Given the description of an element on the screen output the (x, y) to click on. 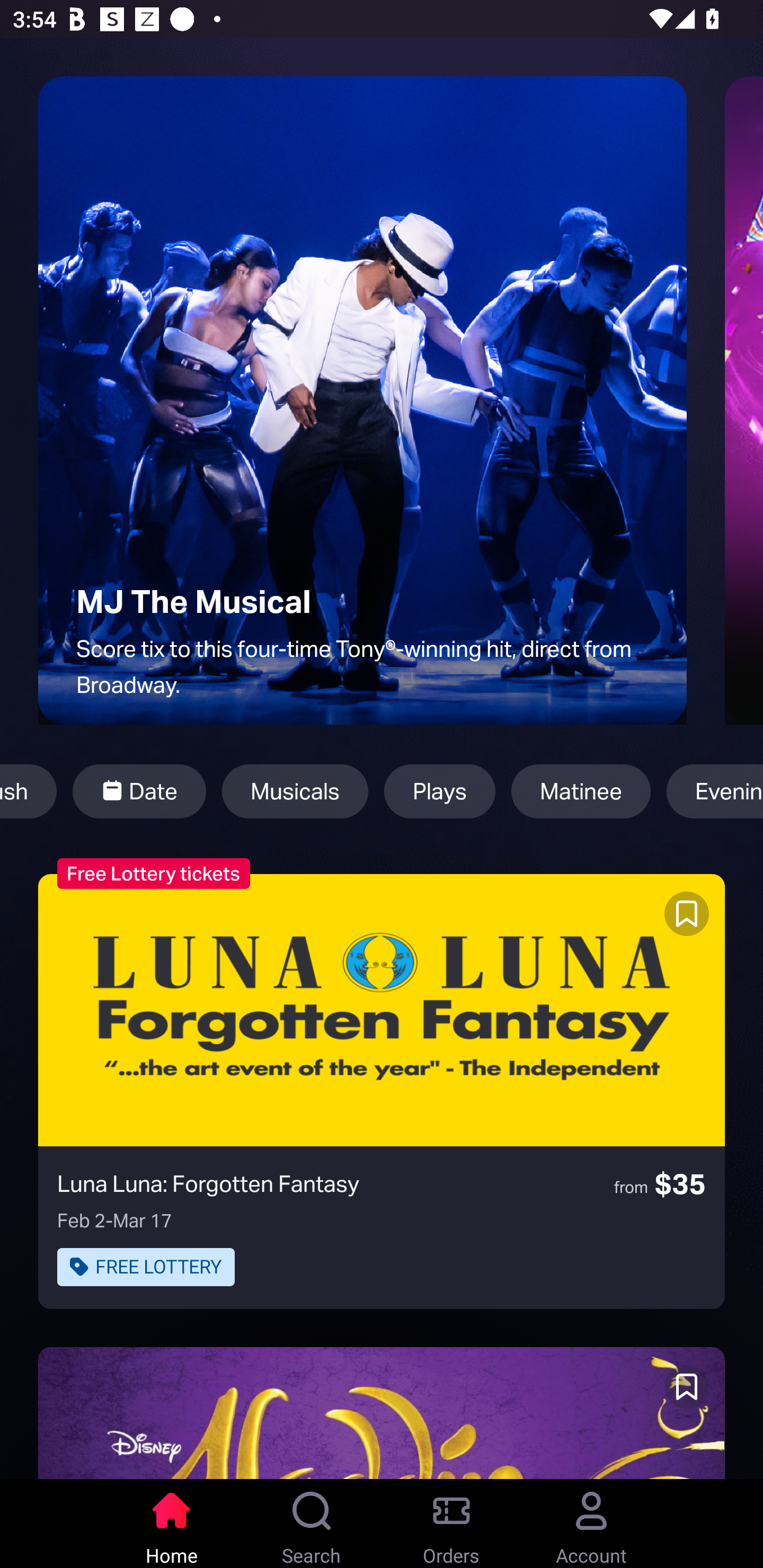
Date (139, 791)
Musicals (295, 791)
Plays (439, 791)
Matinee (580, 791)
Search (311, 1523)
Orders (451, 1523)
Account (591, 1523)
